Given the description of an element on the screen output the (x, y) to click on. 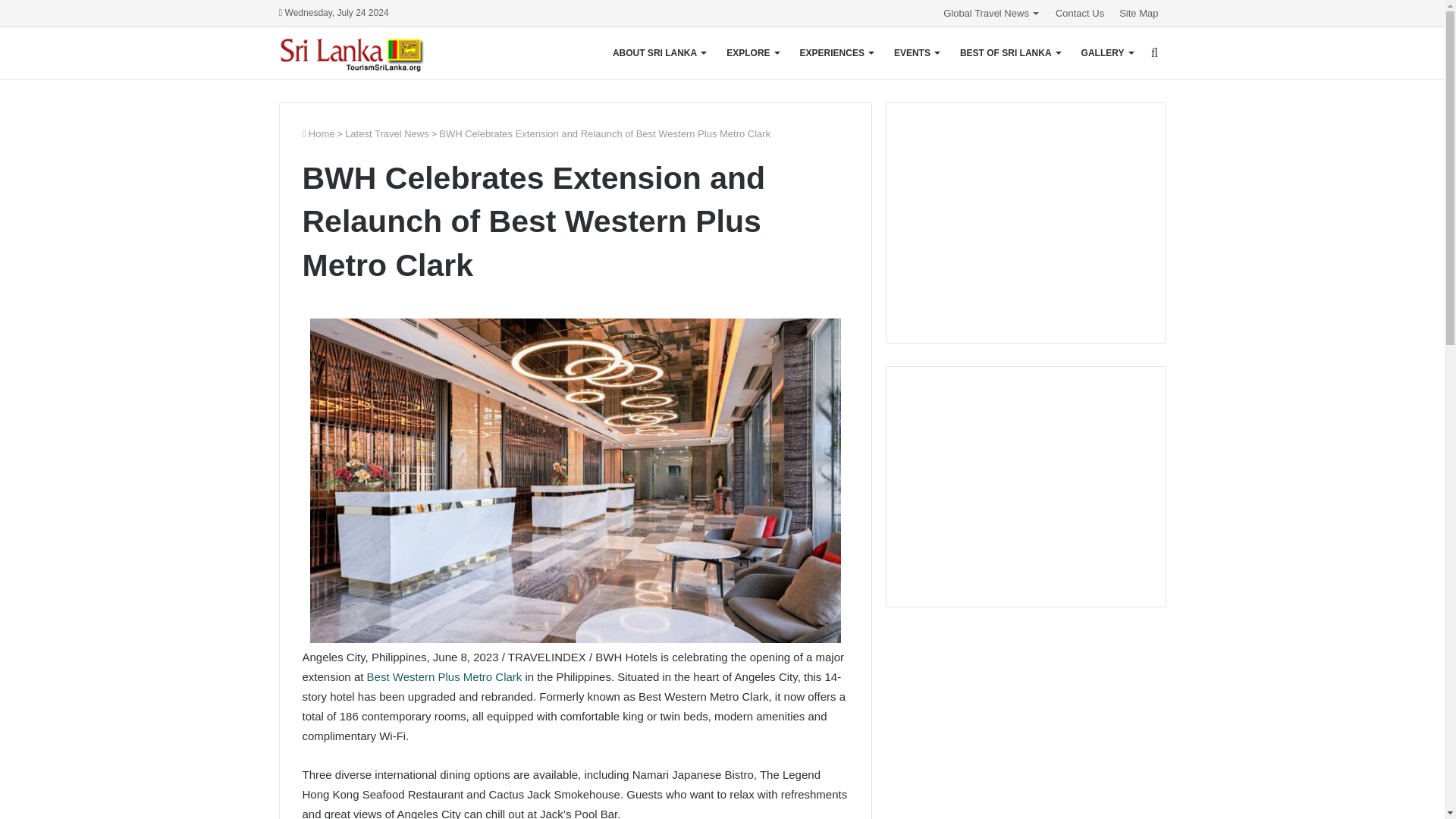
Site Map (1139, 13)
Advertisement (1024, 220)
EXPLORE (752, 52)
Global Travel News (992, 13)
ABOUT SRI LANKA (659, 52)
Advertisement (1024, 484)
EXPERIENCES (836, 52)
Tourism Sri Lanka (362, 52)
Contact Us (1080, 13)
